Given the description of an element on the screen output the (x, y) to click on. 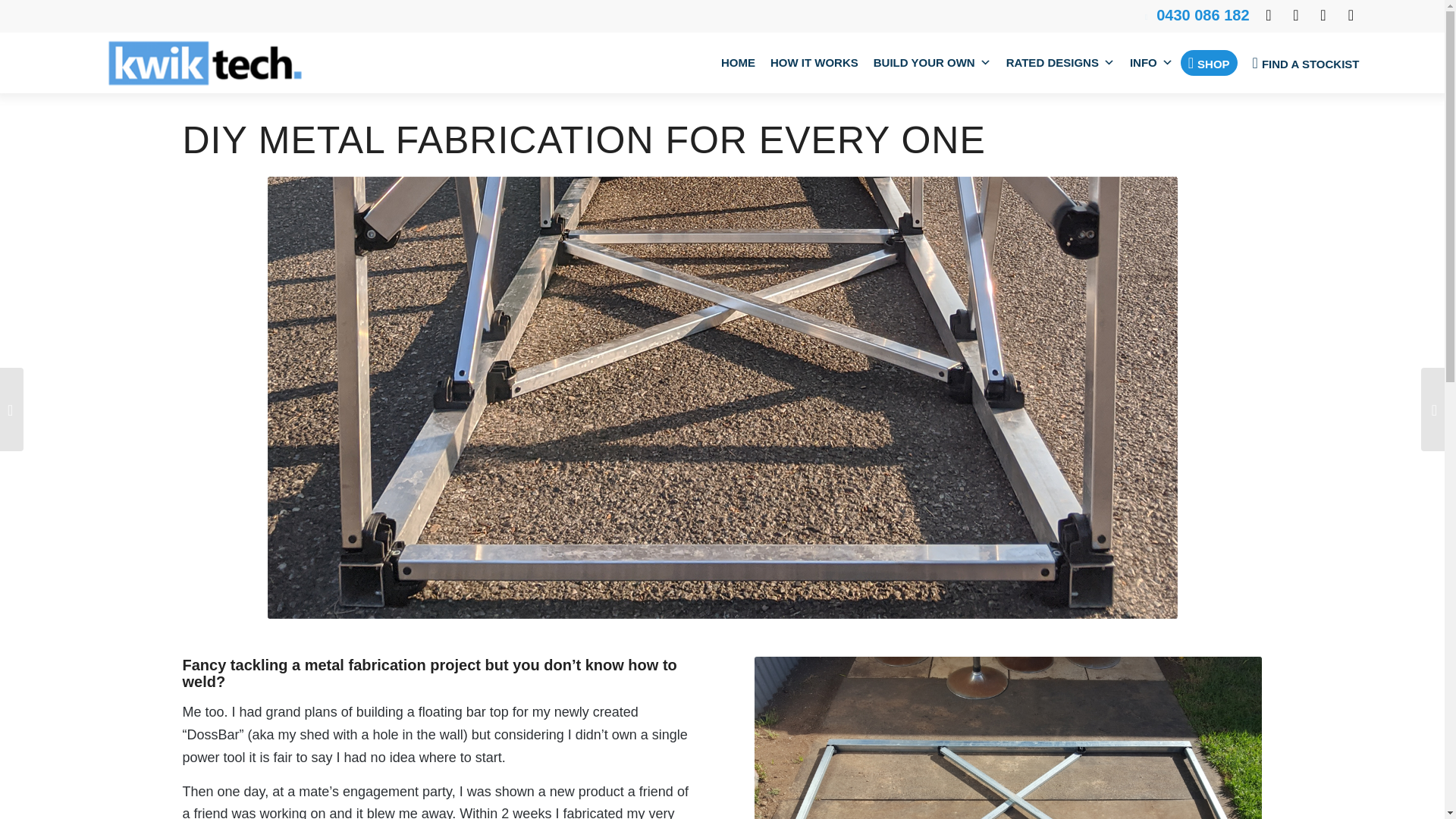
0430 086 182 (1202, 14)
RATED DESIGNS (1060, 62)
HOW IT WORKS (814, 62)
logo-med (204, 62)
Gate-driveway (1008, 737)
BUILD YOUR OWN (932, 62)
SHOP (1208, 62)
INFO (1151, 62)
FIND A STOCKIST (1305, 62)
